Given the description of an element on the screen output the (x, y) to click on. 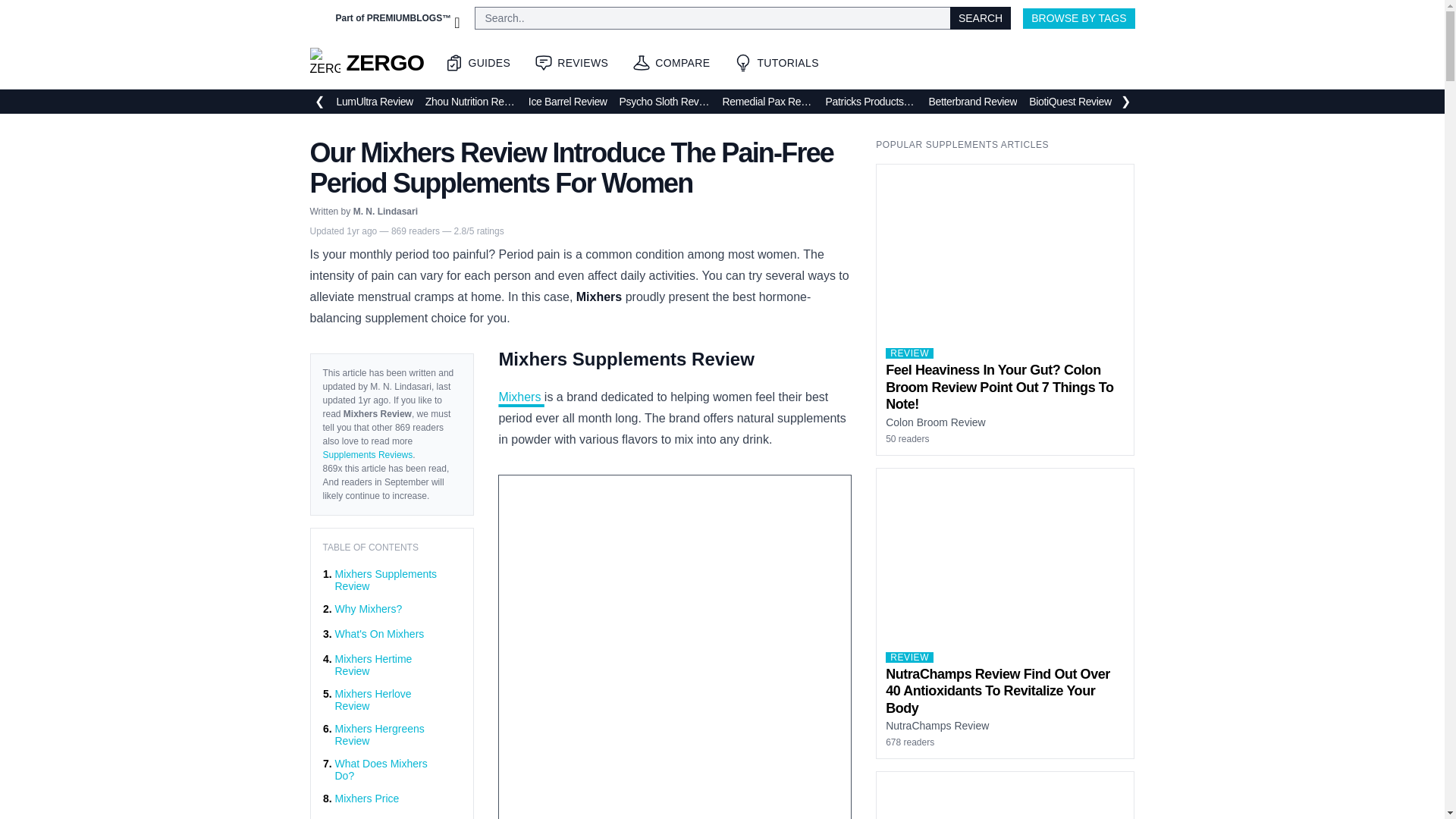
COMPARE (670, 62)
REVIEWS (571, 62)
Mixhers Herlove Review (391, 699)
Mixhers Hergreens Review (391, 734)
Supplements Reviews (368, 454)
Patricks Products Review (871, 101)
What'S On Mixhers (379, 633)
Zhou Nutrition Review (470, 101)
Search (980, 18)
Mixhers Supplements Review (391, 580)
